Given the description of an element on the screen output the (x, y) to click on. 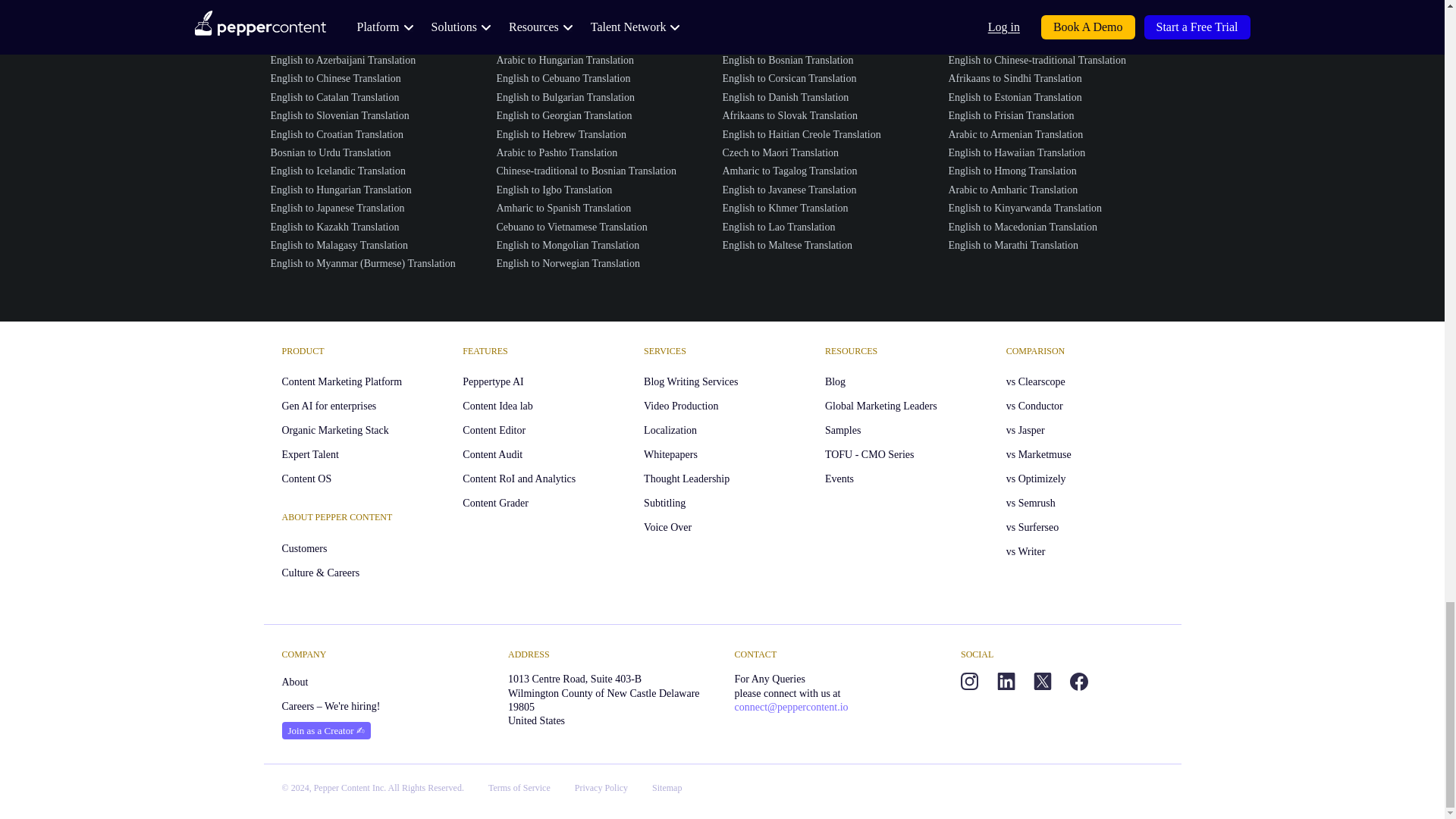
linkedin (1005, 681)
instagram (969, 681)
twitter (1042, 681)
facebook (1078, 681)
